Given the description of an element on the screen output the (x, y) to click on. 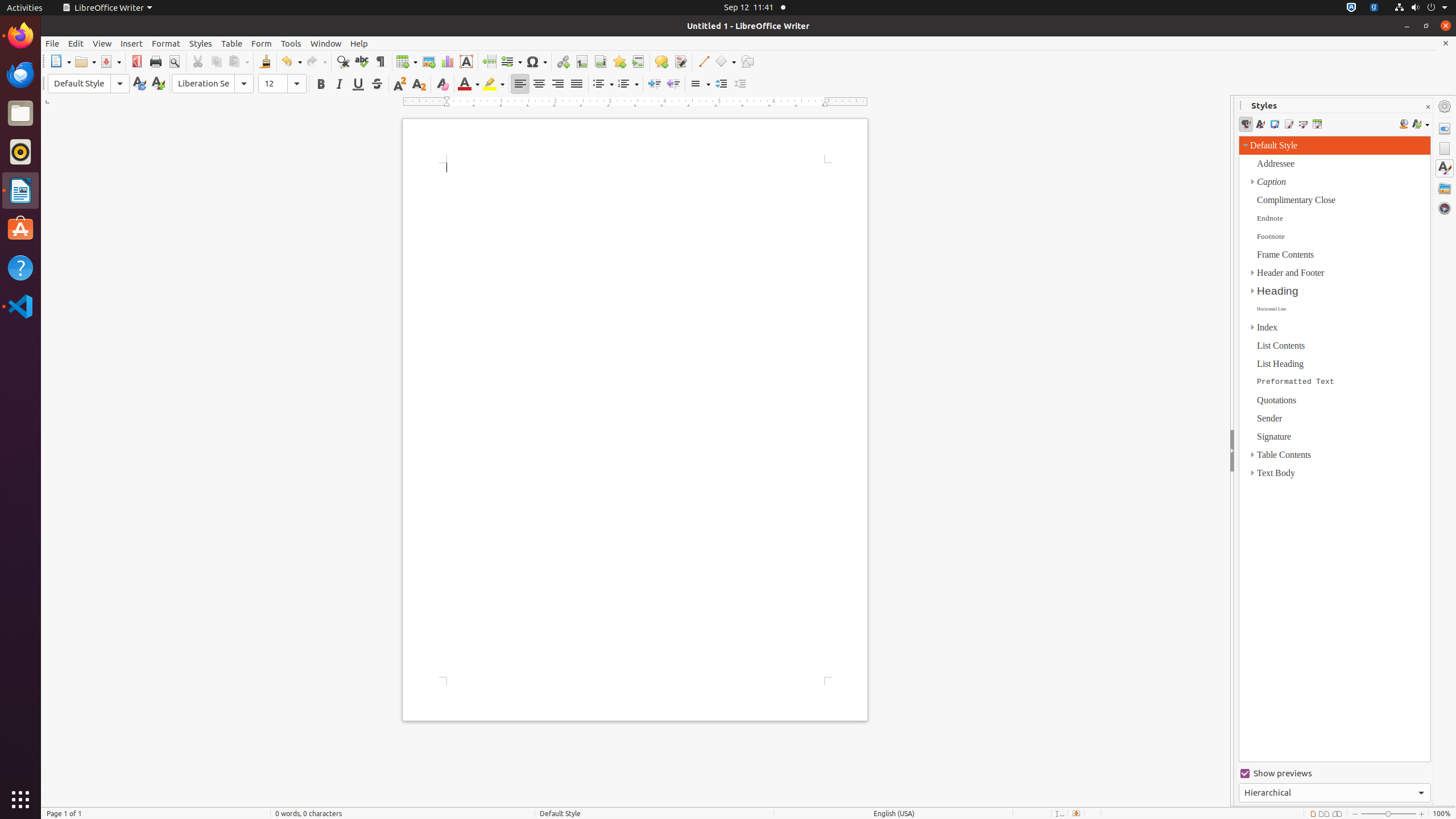
Font Name Element type: text (202, 83)
Show Applications Element type: toggle-button (20, 799)
Copy Element type: push-button (216, 61)
Paragraph Style Element type: combo-box (88, 83)
Table Element type: push-button (406, 61)
